Given the description of an element on the screen output the (x, y) to click on. 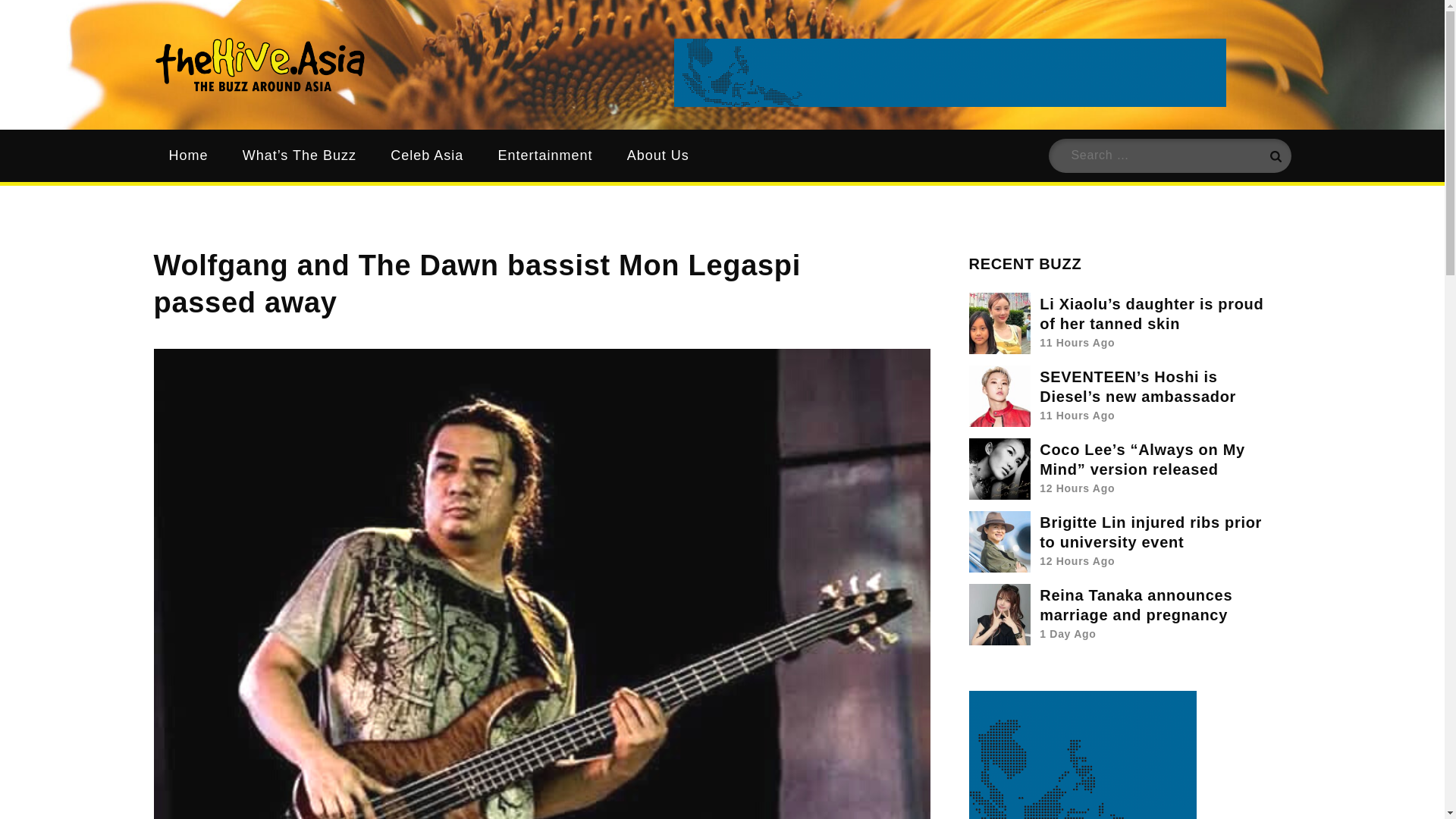
Celeb Asia (427, 154)
Home (187, 154)
3rd party ad content (1082, 755)
Entertainment (544, 154)
1 Day Ago (1067, 633)
theHive.Asia (479, 82)
12 Hours Ago (1077, 488)
Reina Tanaka announces marriage and pregnancy (1135, 605)
About Us (657, 154)
11 Hours Ago (1077, 342)
Brigitte Lin injured ribs prior to university event (1150, 532)
3rd party ad content (948, 72)
11 Hours Ago (1077, 415)
12 Hours Ago (1077, 561)
